Given the description of an element on the screen output the (x, y) to click on. 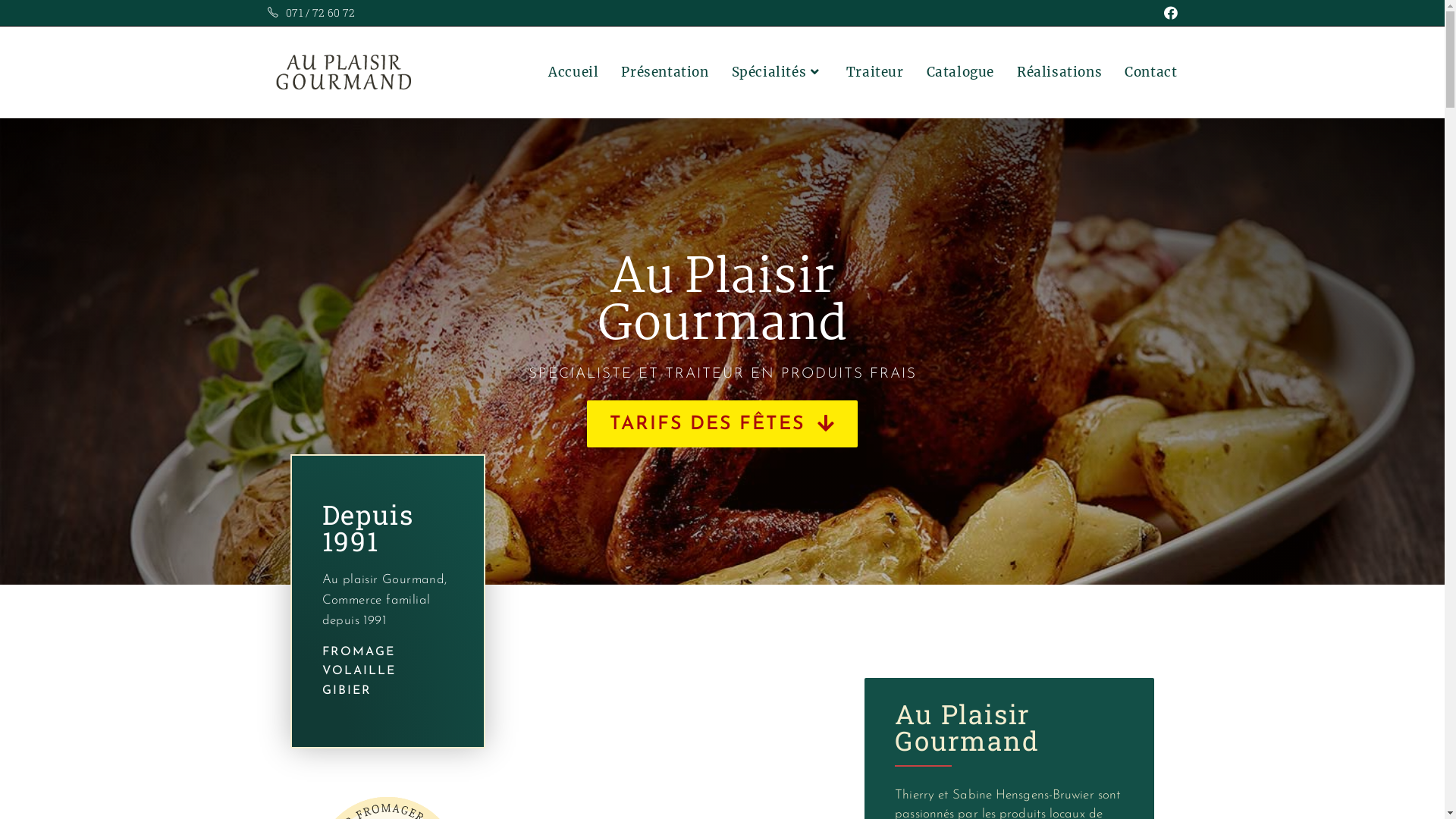
Traiteur Element type: text (874, 71)
071 / 72 60 72 Element type: text (319, 12)
Catalogue Element type: text (960, 71)
Contact Element type: text (1150, 71)
Accueil Element type: text (572, 71)
